Given the description of an element on the screen output the (x, y) to click on. 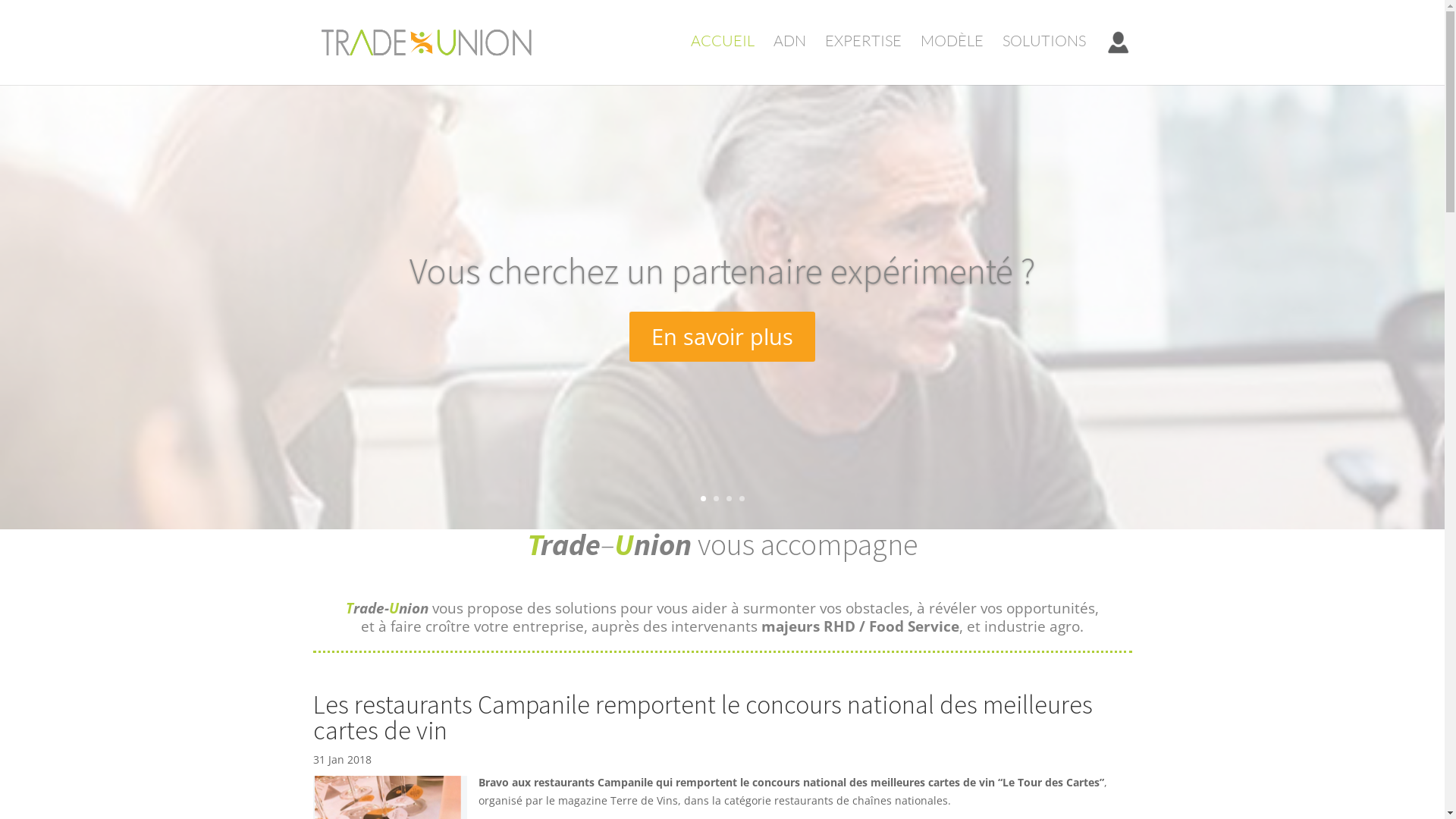
En savoir plus Element type: text (722, 336)
SOLUTIONS Element type: text (1043, 55)
ADN Element type: text (789, 55)
3 Element type: text (728, 498)
1 Element type: text (703, 498)
2 Element type: text (715, 498)
ACCUEIL Element type: text (721, 55)
EXPERTISE Element type: text (863, 55)
4 Element type: text (740, 498)
